Given the description of an element on the screen output the (x, y) to click on. 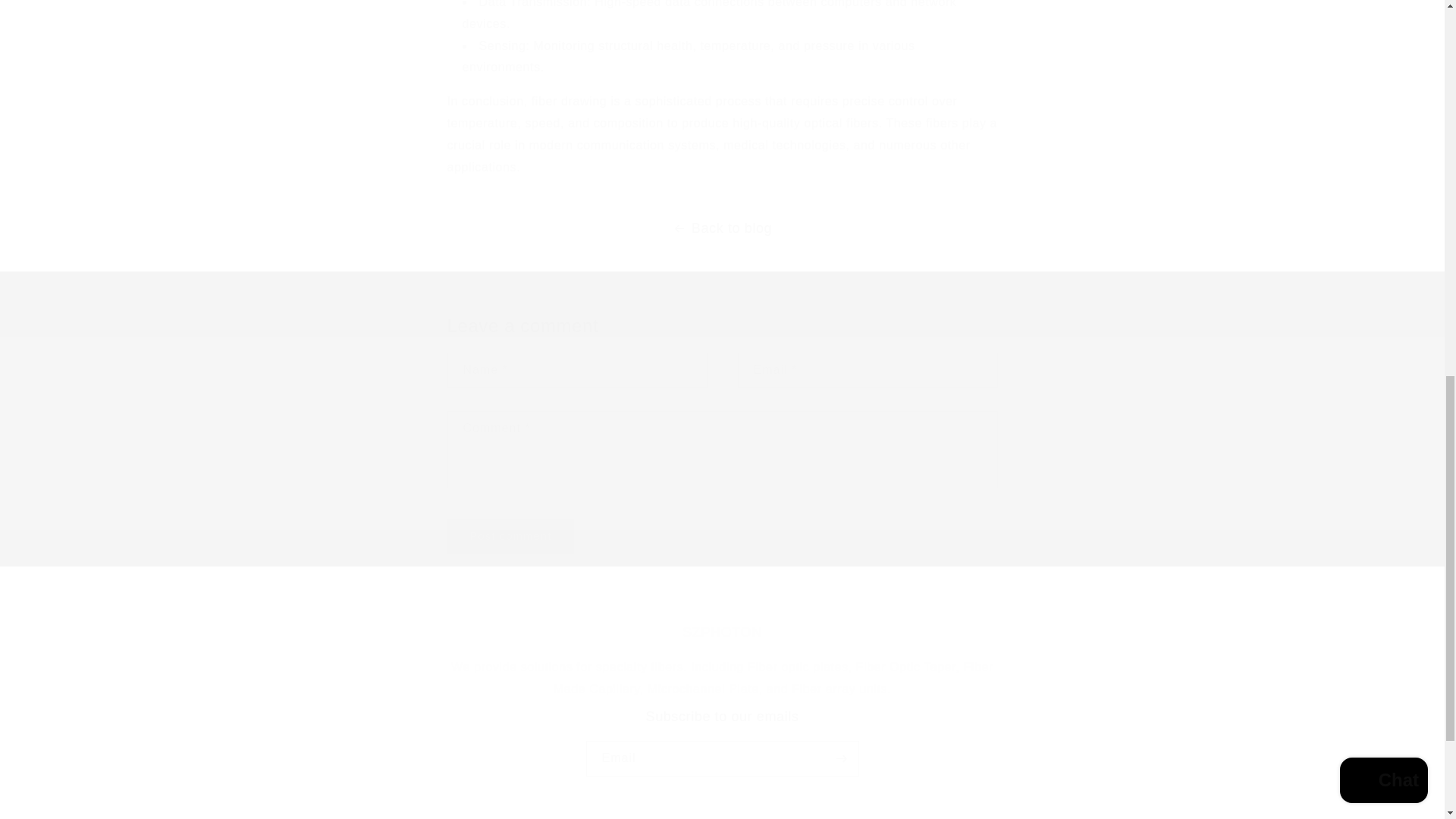
Post comment (510, 536)
